Given the description of an element on the screen output the (x, y) to click on. 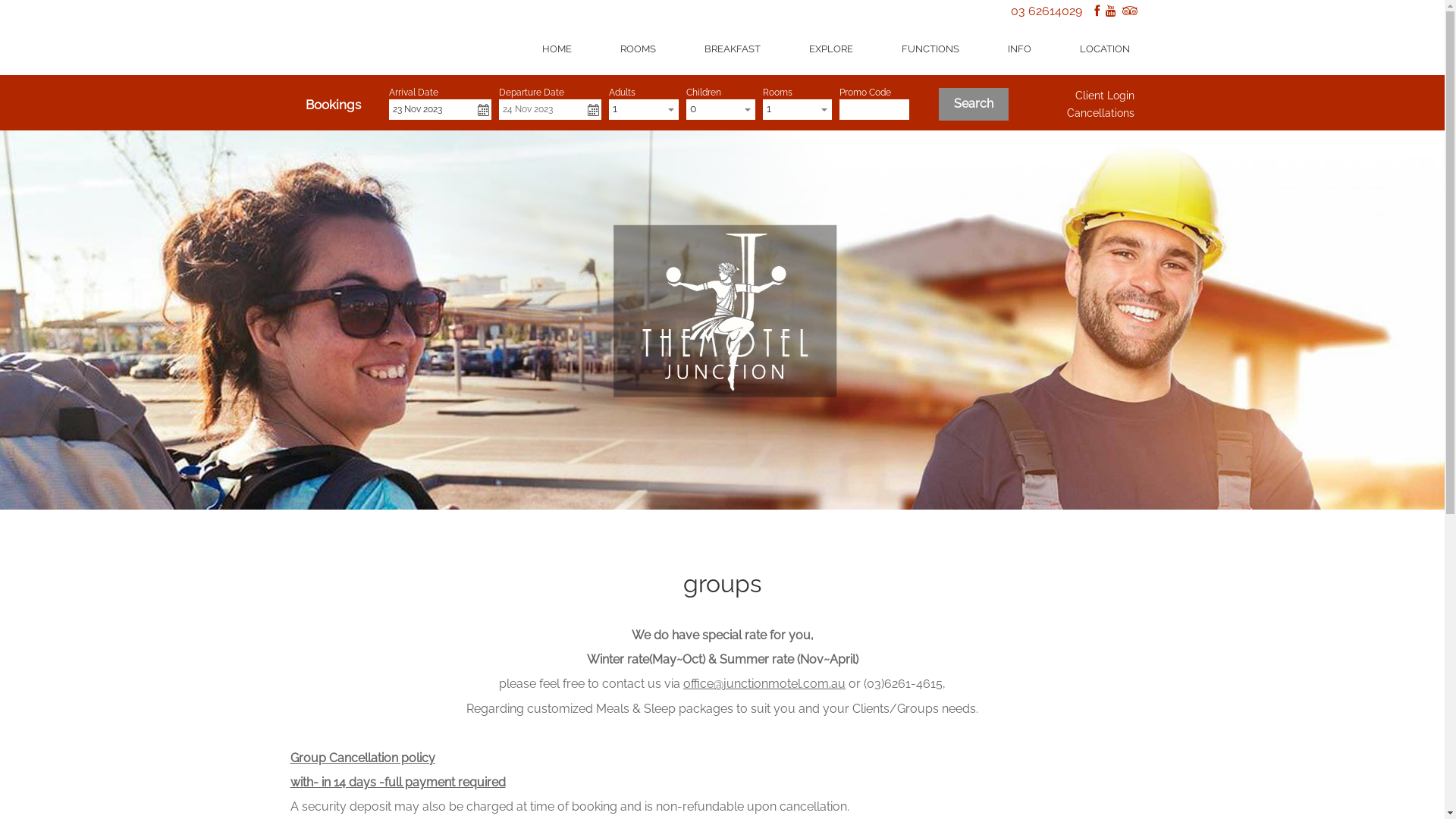
ROOMS Element type: text (638, 48)
Client Login Element type: text (1104, 95)
INFO Element type: text (1019, 48)
FUNCTIONS Element type: text (930, 48)
EXPLORE Element type: text (830, 48)
BREAKFAST Element type: text (732, 48)
Search Element type: text (973, 103)
Cancellations Element type: text (1100, 112)
Facebook Element type: hover (1095, 10)
Youtube Element type: hover (1110, 10)
LOCATION Element type: text (1104, 48)
Tripadvisor Element type: hover (1130, 10)
HOME Element type: text (556, 48)
03 62614029 Element type: text (1045, 10)
